Given the description of an element on the screen output the (x, y) to click on. 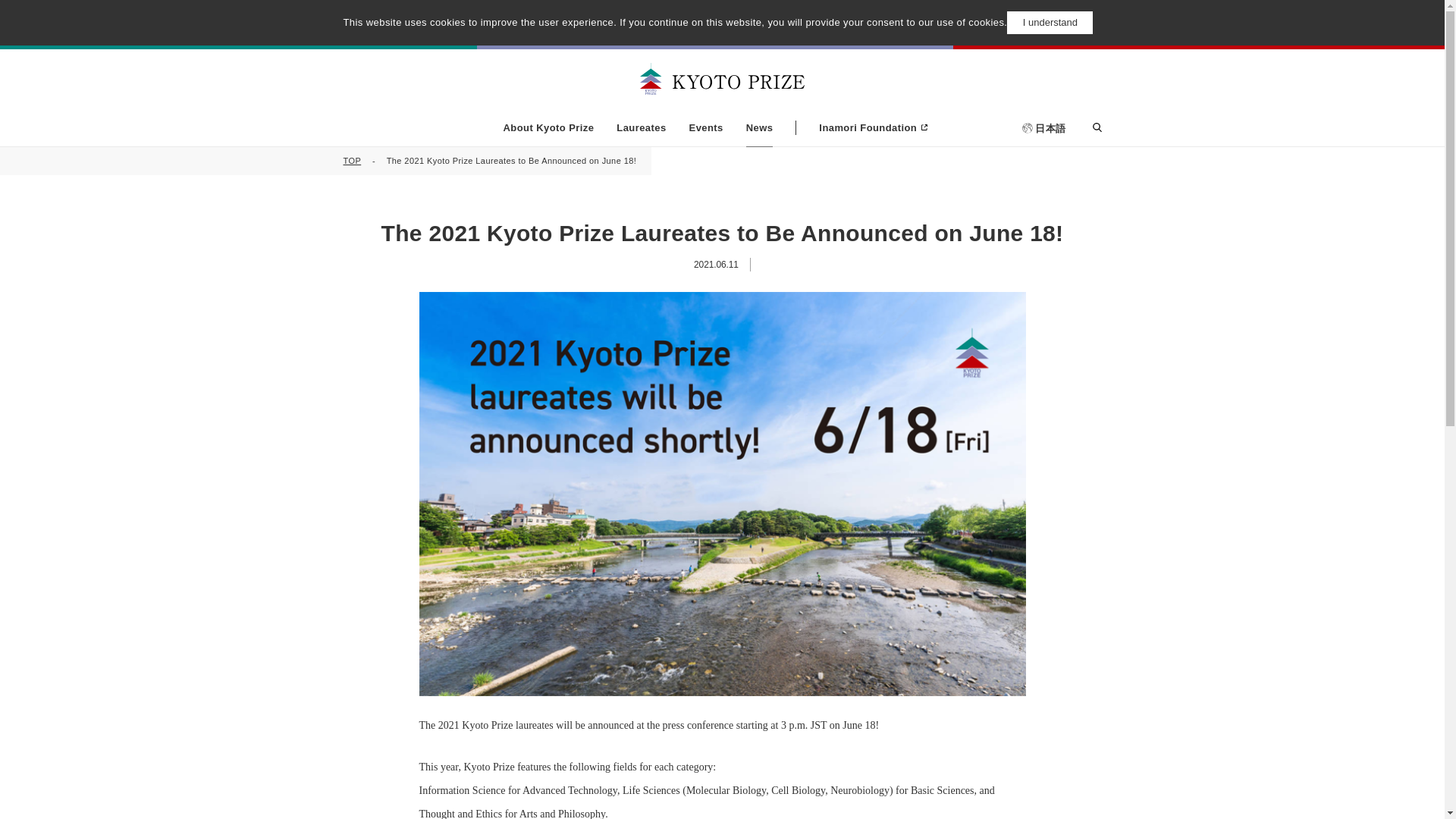
News (759, 127)
I understand (1050, 22)
Events (705, 127)
Laureates (640, 127)
Inamori Foundation (860, 127)
TOP (351, 160)
About Kyoto Prize (548, 127)
